Given the description of an element on the screen output the (x, y) to click on. 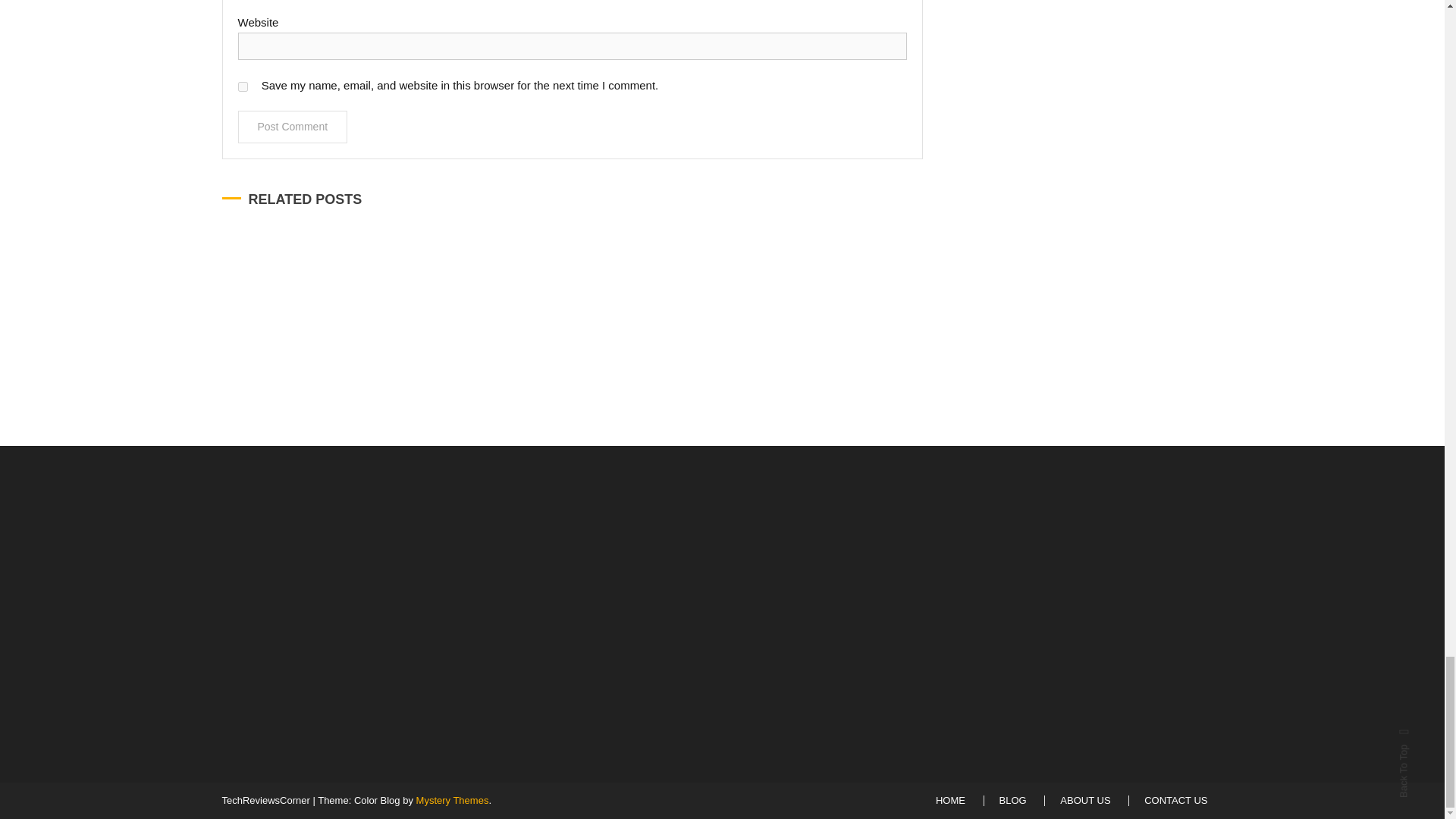
yes (242, 86)
Post Comment (292, 126)
